Given the description of an element on the screen output the (x, y) to click on. 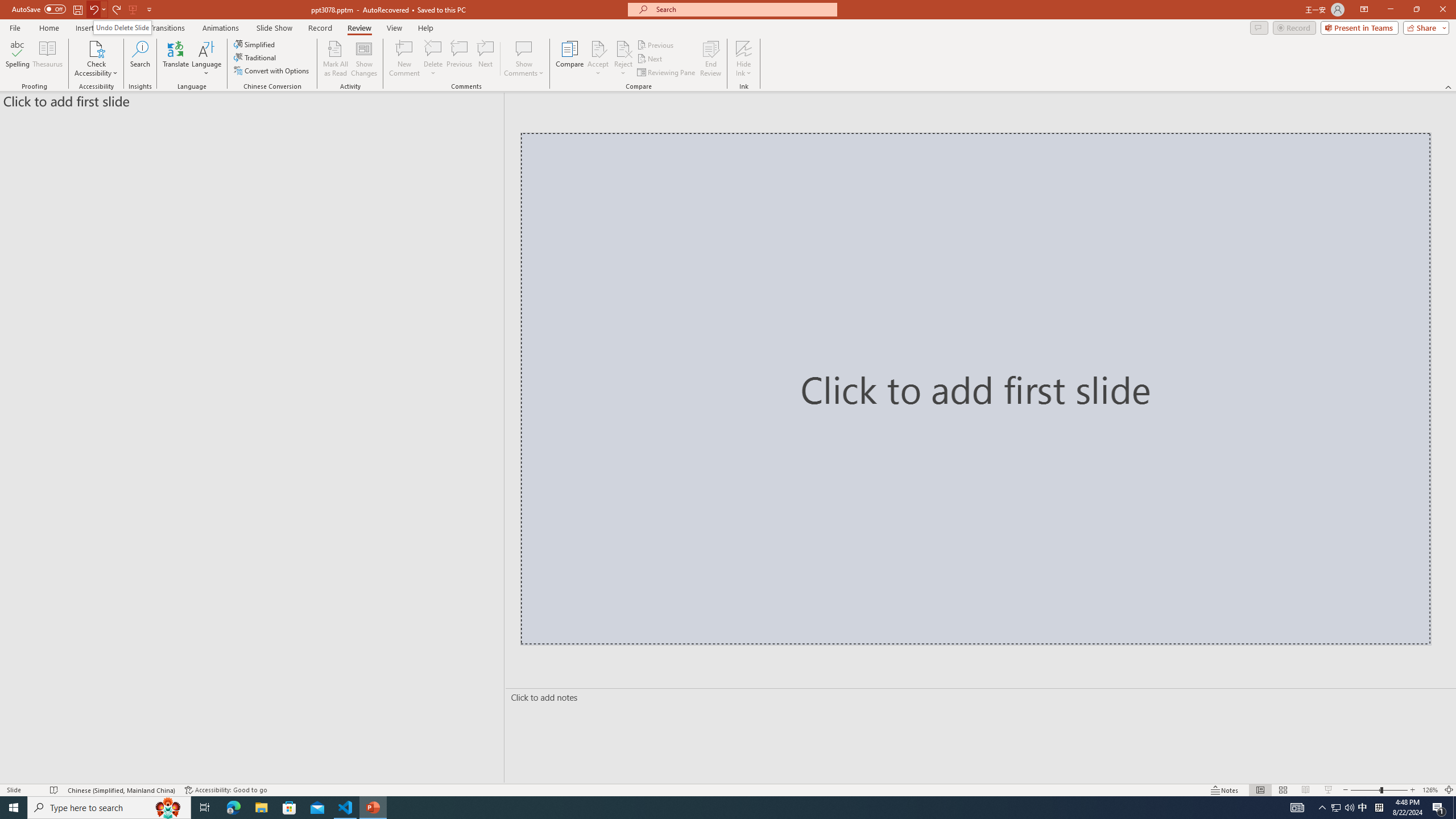
Reject (622, 58)
Show Changes (363, 58)
Convert with Options... (272, 69)
Translate (175, 58)
